Given the description of an element on the screen output the (x, y) to click on. 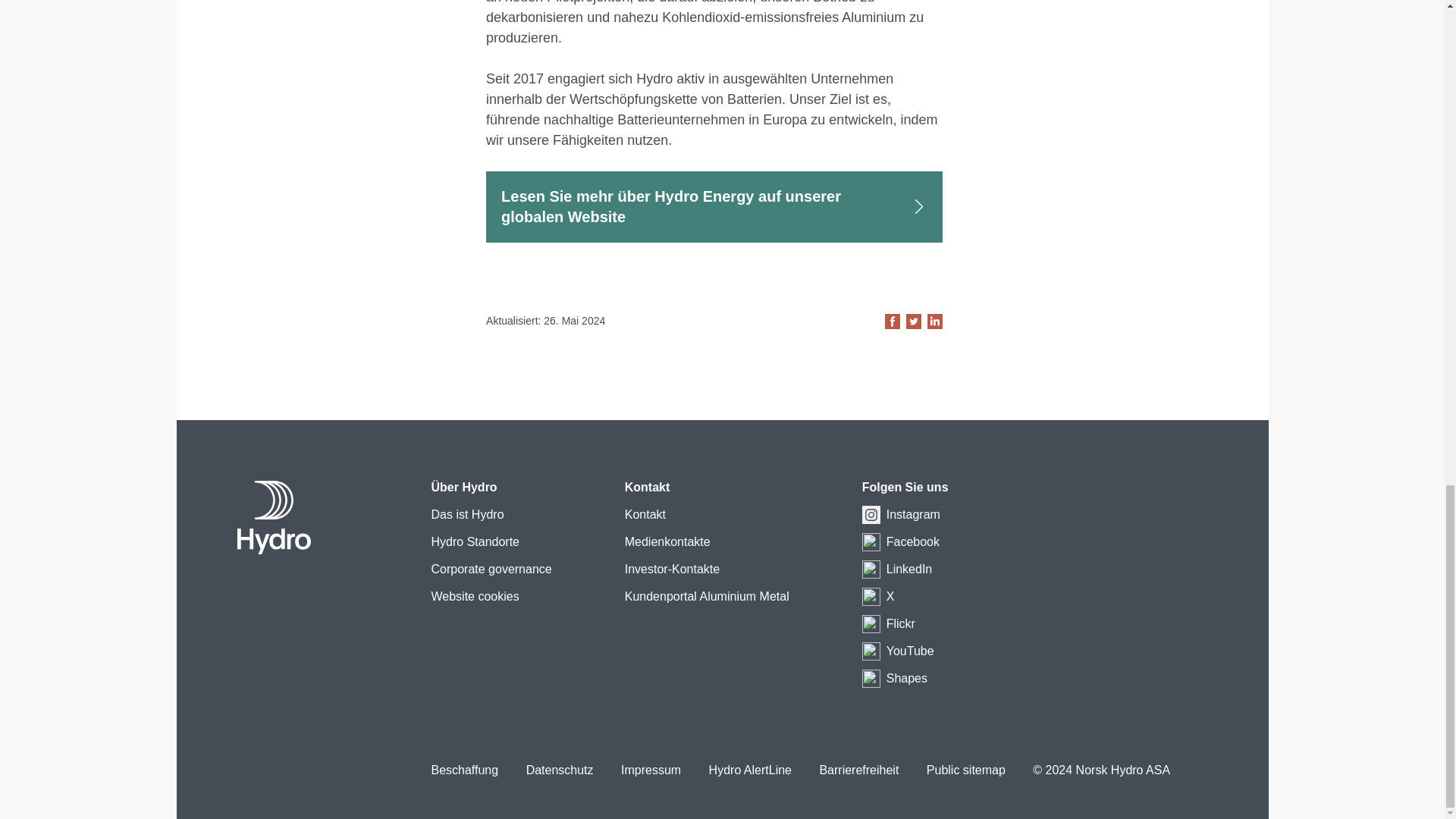
Flickr (900, 624)
Teilen auf facebook (892, 321)
Das ist Hydro (466, 515)
X icon (870, 597)
Facebook (912, 542)
youtube icon (870, 651)
linkedin icon (870, 569)
Website cookies (474, 597)
shapes icon (870, 678)
facebook icon (870, 542)
